Given the description of an element on the screen output the (x, y) to click on. 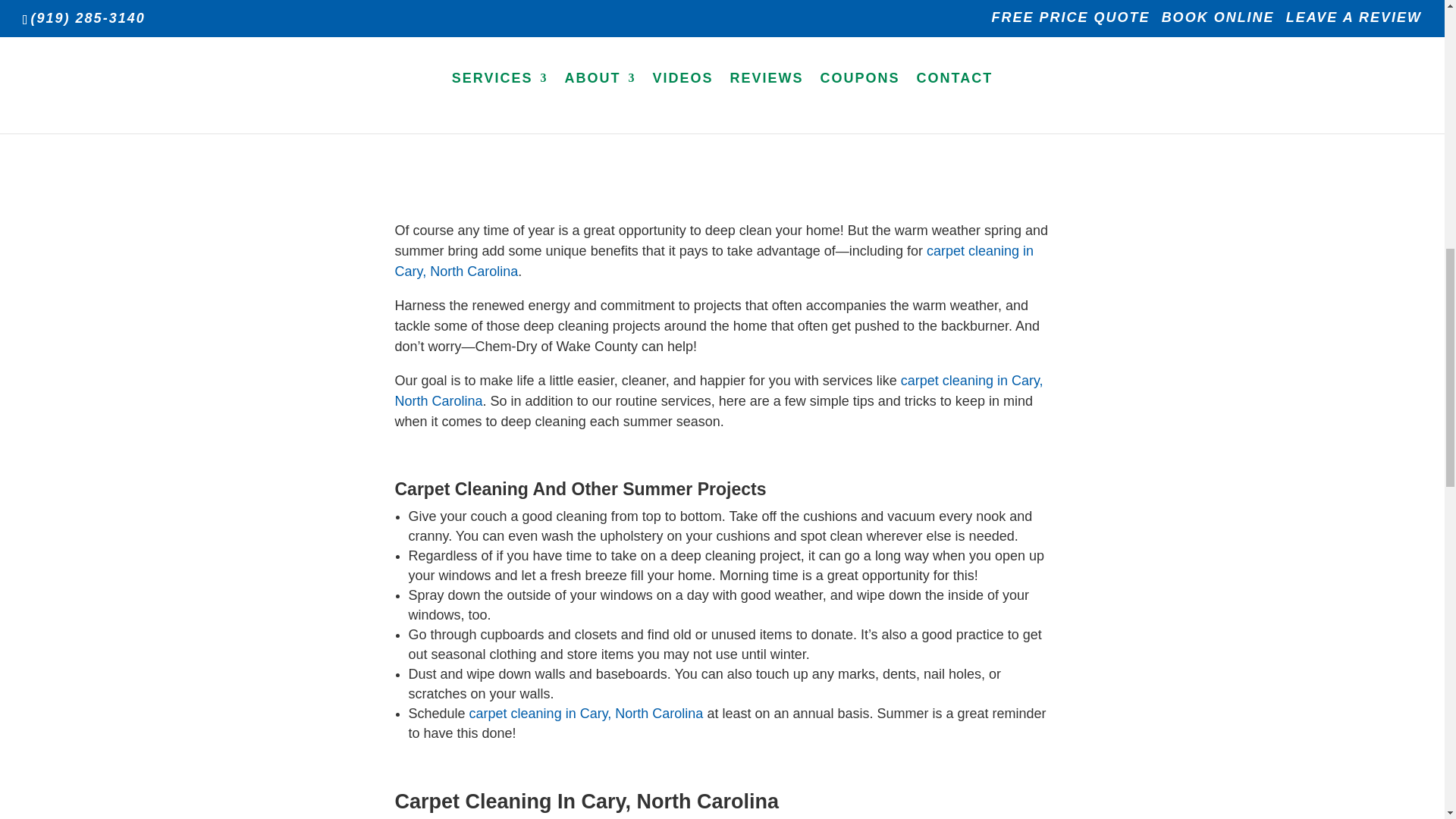
carpet-cleaning-near-me-cary-nc (722, 58)
carpet cleaning in Cary, North Carolina (718, 390)
carpet cleaning in Cary, North Carolina (713, 261)
carpet cleaning in Cary, North Carolina (585, 713)
